Given the description of an element on the screen output the (x, y) to click on. 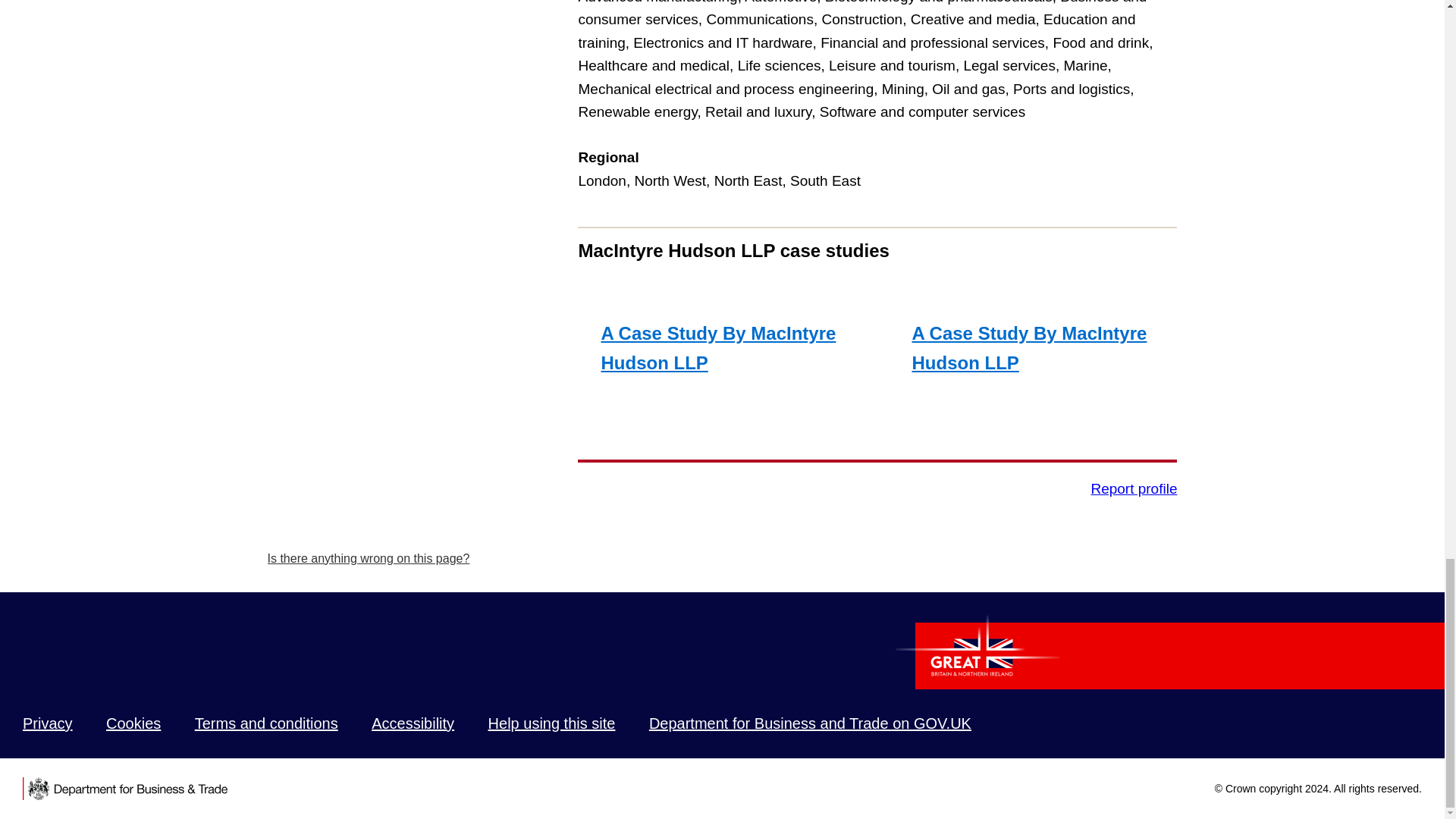
A Case Study By MacIntyre Hudson LLP (722, 331)
Department for Business and Trade on GOV.UK (810, 723)
Terms and conditions (266, 723)
Accessibility (412, 723)
Is there anything wrong on this page? (367, 558)
Opens in a new window (412, 723)
Opens in a new window (47, 723)
Opens in a new window (810, 723)
Cookies (133, 723)
Privacy (47, 723)
